Given the description of an element on the screen output the (x, y) to click on. 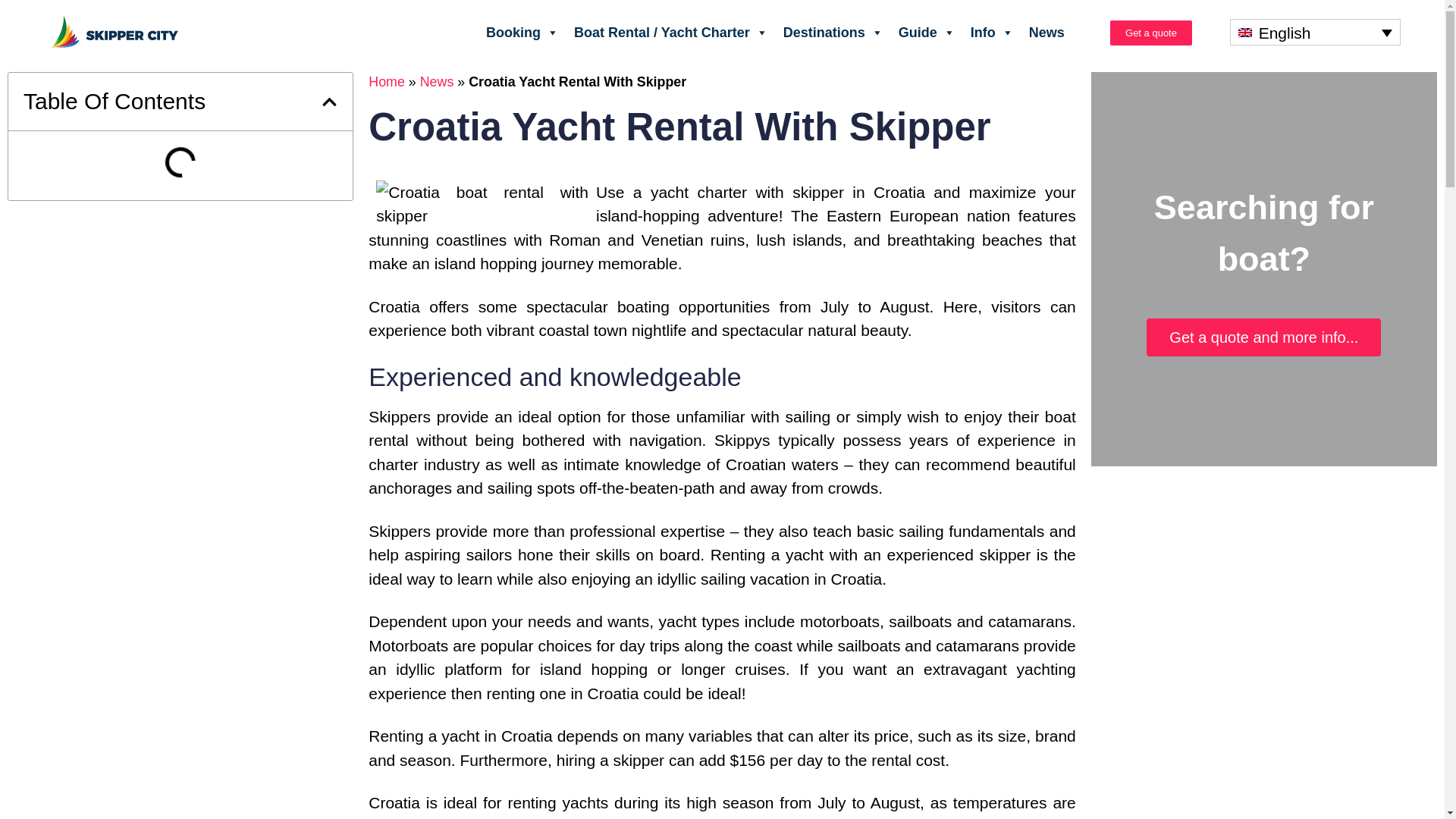
Booking (522, 31)
Boat Booking Yacht Charter Croatia (522, 31)
Yacht charter Croatia, Boat rental Croatia (671, 31)
Destinations (833, 31)
